Given the description of an element on the screen output the (x, y) to click on. 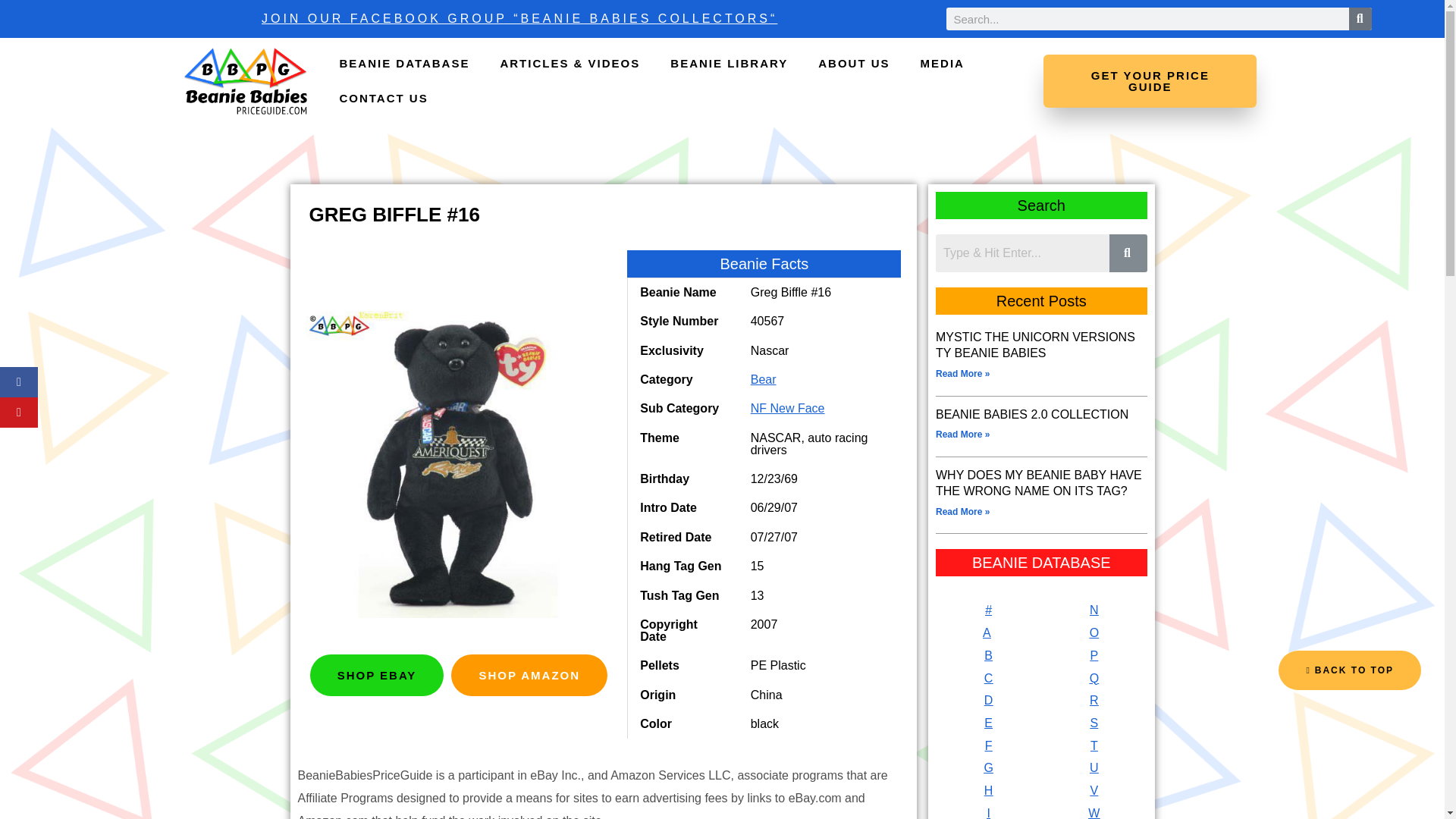
GET YOUR PRICE GUIDE (1149, 80)
MYSTIC THE UNICORN VERSIONS TY BEANIE BABIES (1035, 344)
Bear (763, 379)
BEANIE LIBRARY (729, 63)
SEARCH (1360, 18)
CONTACT US (382, 98)
SHOP AMAZON (529, 675)
MEDIA (942, 63)
Search (1022, 252)
SHOP EBAY (377, 675)
BEANIE DATABASE (403, 63)
ABOUT US (853, 63)
NF New Face (788, 408)
BEANIE BABIES 2.0 COLLECTION (1032, 413)
